Given the description of an element on the screen output the (x, y) to click on. 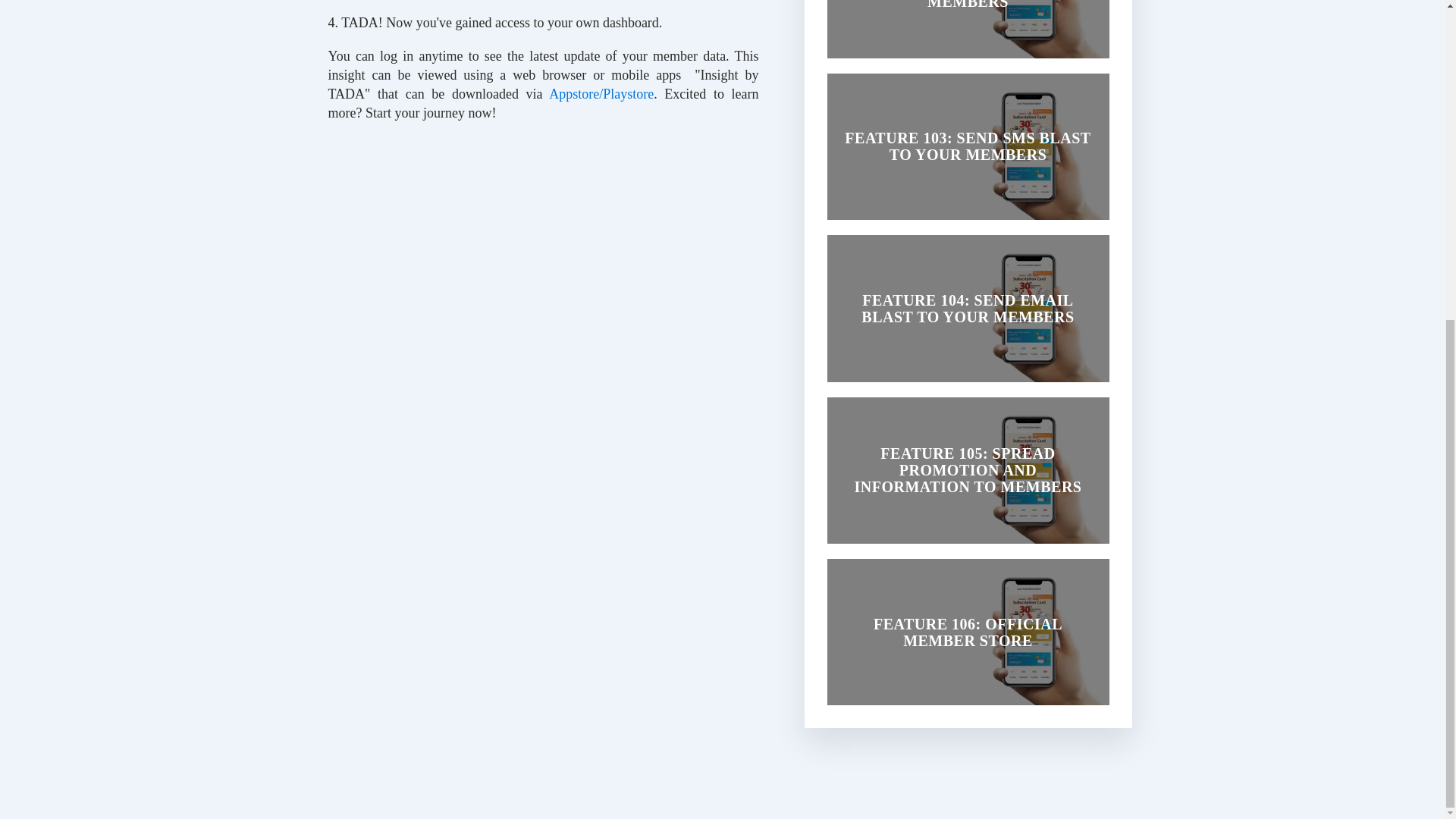
FEATURE 105: SPREAD PROMOTION AND INFORMATION TO MEMBERS (967, 470)
FEATURE 104: SEND EMAIL BLAST TO YOUR MEMBERS (967, 308)
FEATURE 102: CREATE PUSH NOTIFICATIONS FOR YOUR MEMBERS (967, 32)
FEATURE 106: OFFICIAL MEMBER STORE (967, 631)
FEATURE 103: SEND SMS BLAST TO YOUR MEMBERS (967, 146)
